Given the description of an element on the screen output the (x, y) to click on. 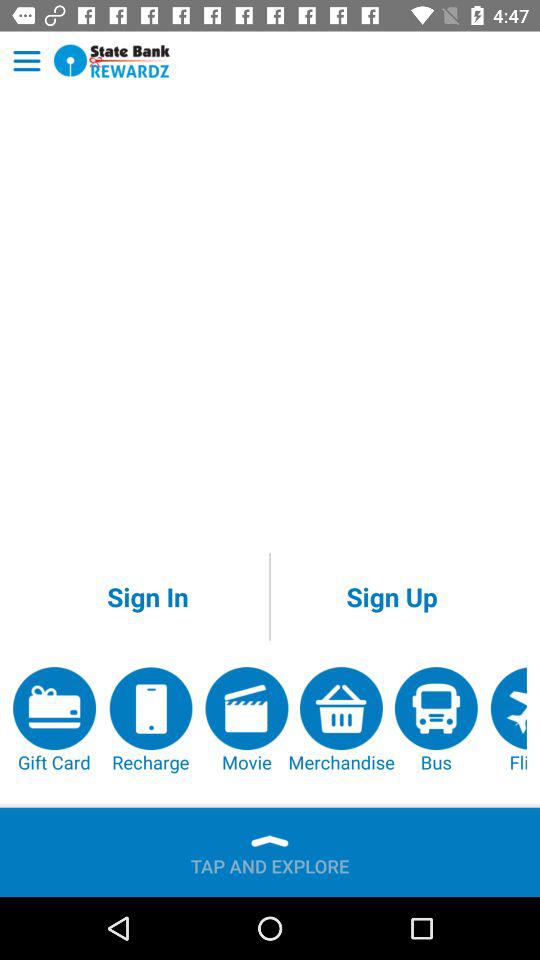
press the app to the right of the recharge app (246, 720)
